Given the description of an element on the screen output the (x, y) to click on. 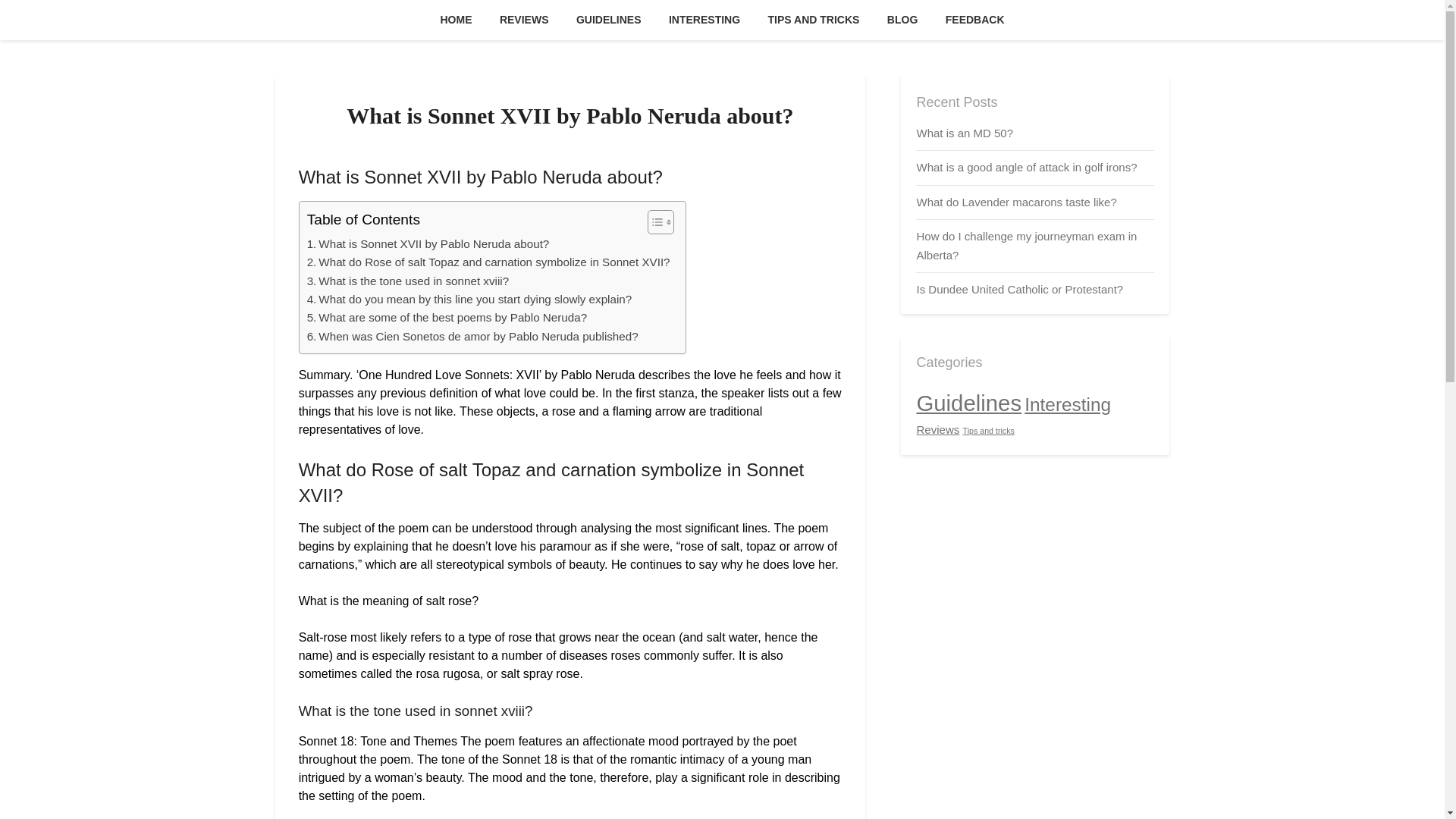
What are some of the best poems by Pablo Neruda? (446, 317)
REVIEWS (523, 20)
Interesting (1067, 403)
What are some of the best poems by Pablo Neruda? (446, 317)
What is Sonnet XVII by Pablo Neruda about? (428, 244)
How do I challenge my journeyman exam in Alberta? (1026, 245)
Is Dundee United Catholic or Protestant? (1018, 288)
When was Cien Sonetos de amor by Pablo Neruda published? (473, 336)
INTERESTING (704, 20)
When was Cien Sonetos de amor by Pablo Neruda published? (473, 336)
What is the tone used in sonnet xviii? (407, 280)
Guidelines (968, 401)
What do Lavender macarons taste like? (1015, 201)
